Given the description of an element on the screen output the (x, y) to click on. 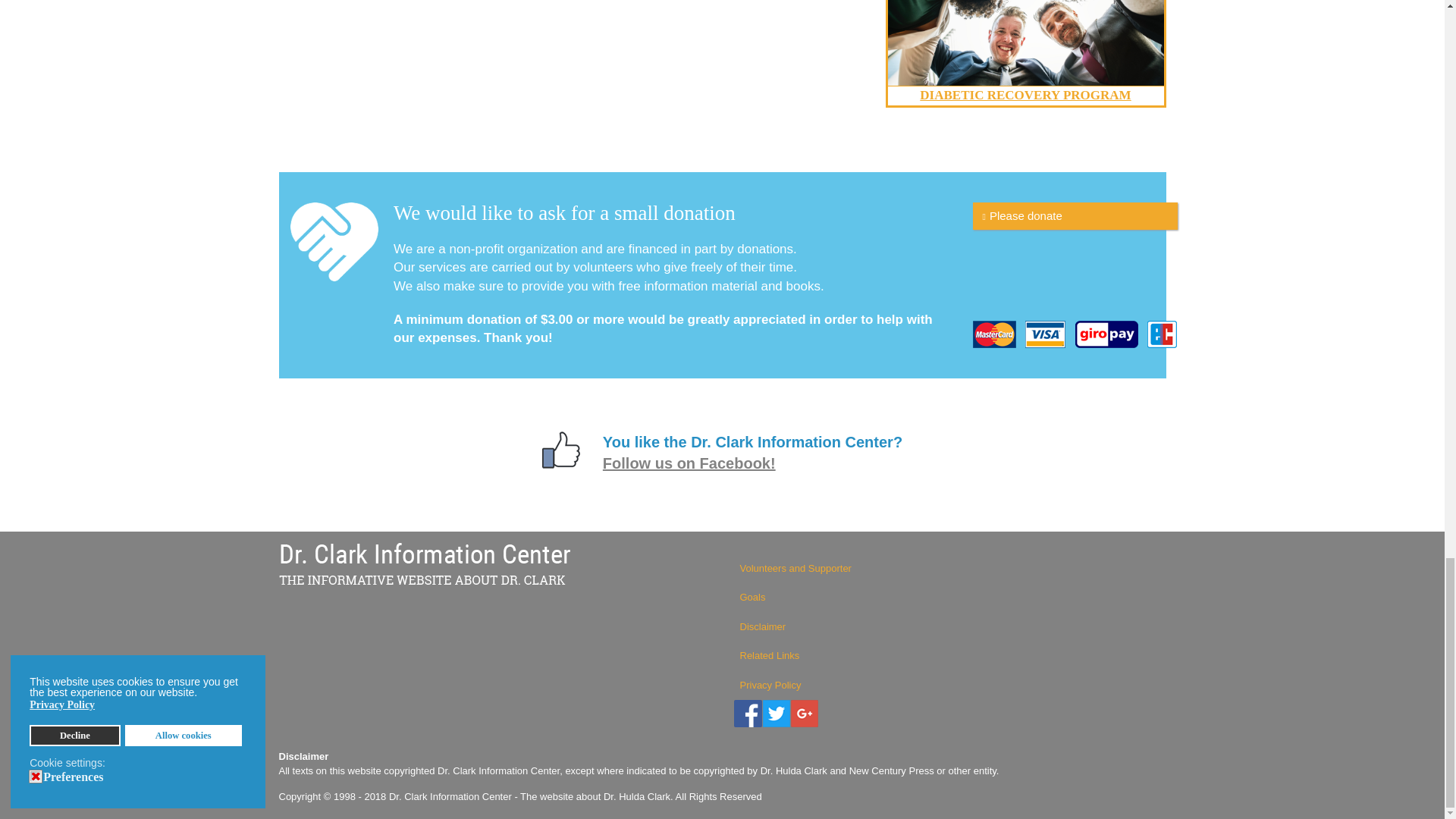
EC (1161, 334)
PayPal - The safer, easier way to pay online! (1074, 215)
Giro Pay (1106, 334)
Master Card (993, 334)
Visa Card (1045, 334)
DIABETIC RECOVERY PROGRAM (1025, 94)
